Given the description of an element on the screen output the (x, y) to click on. 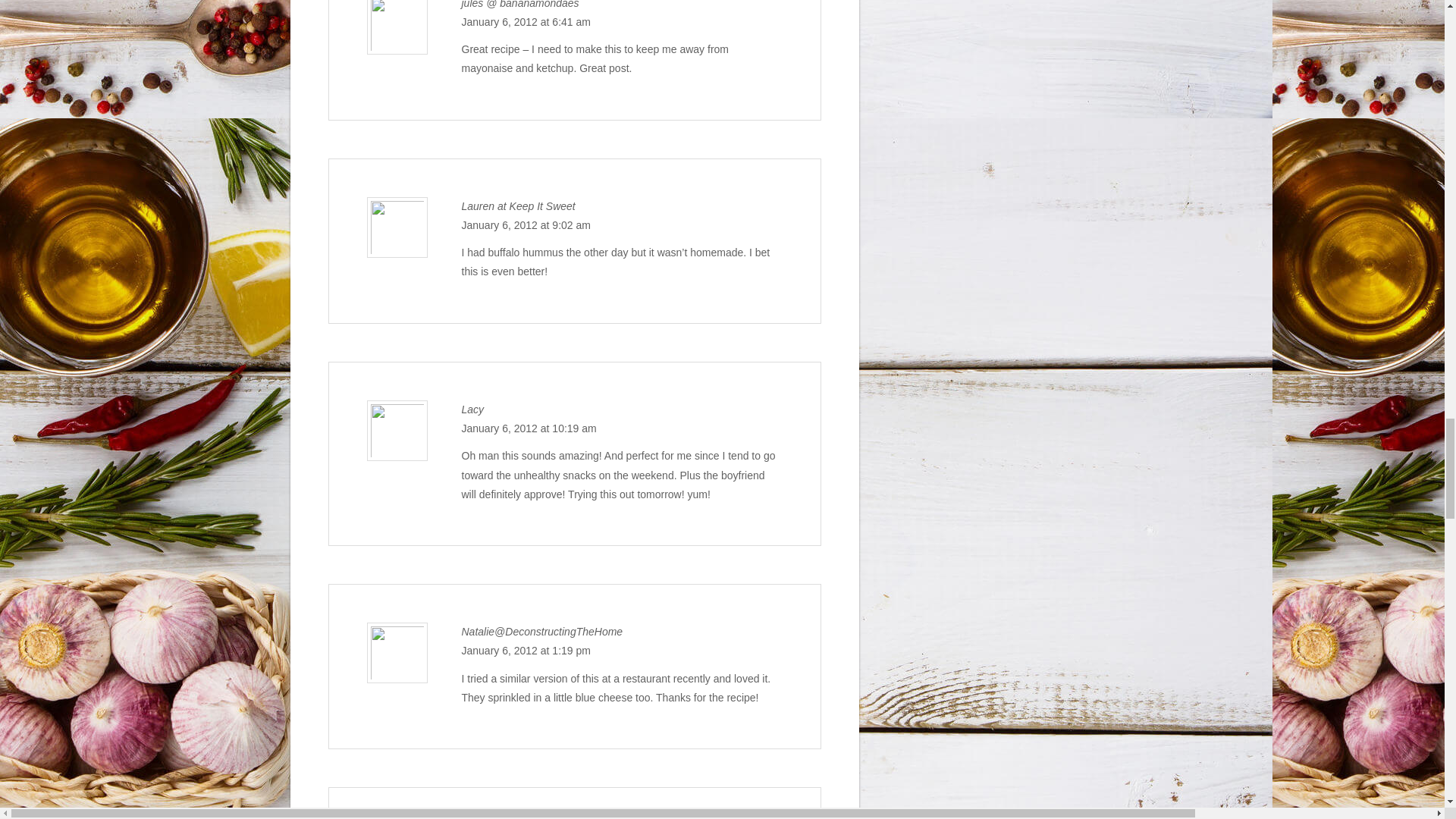
Lauren at Keep It Sweet (518, 205)
January 6, 2012 at 6:41 am (525, 21)
